Given the description of an element on the screen output the (x, y) to click on. 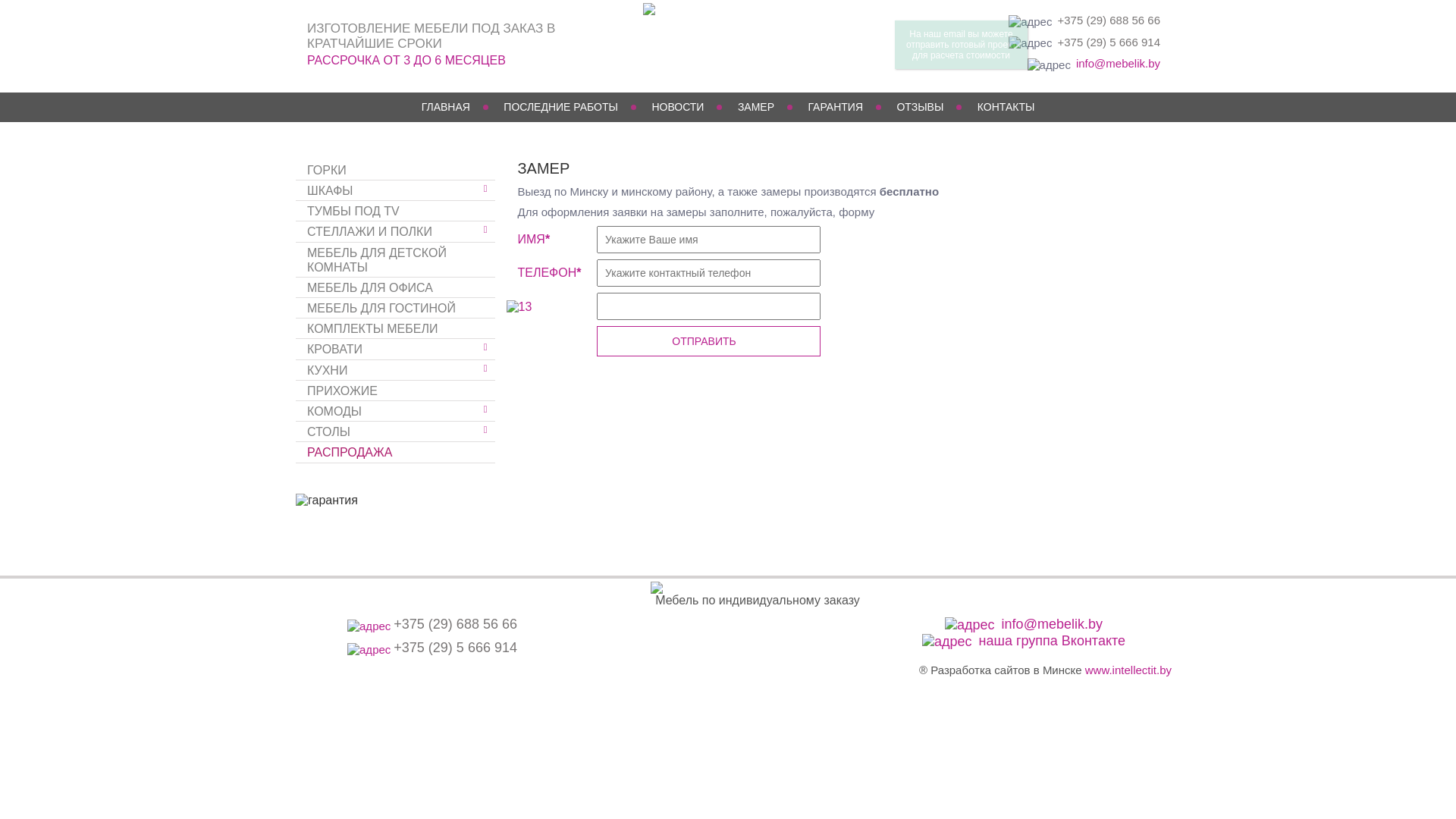
info@mebelik.by Element type: text (1118, 62)
www.intellectit.by Element type: text (1128, 669)
info@mebelik.by Element type: text (1051, 623)
